Given the description of an element on the screen output the (x, y) to click on. 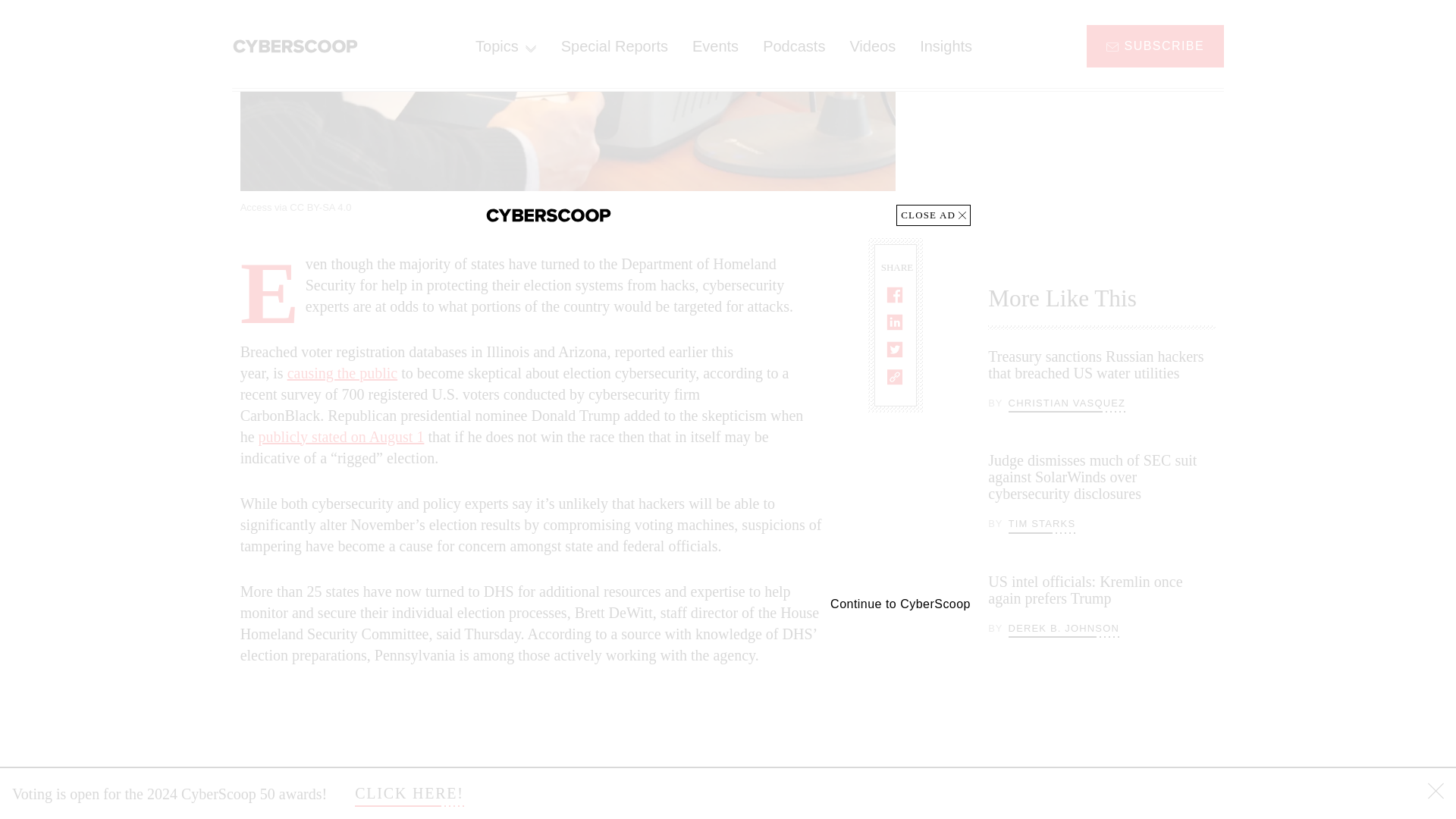
3rd party ad content (1101, 123)
